Given the description of an element on the screen output the (x, y) to click on. 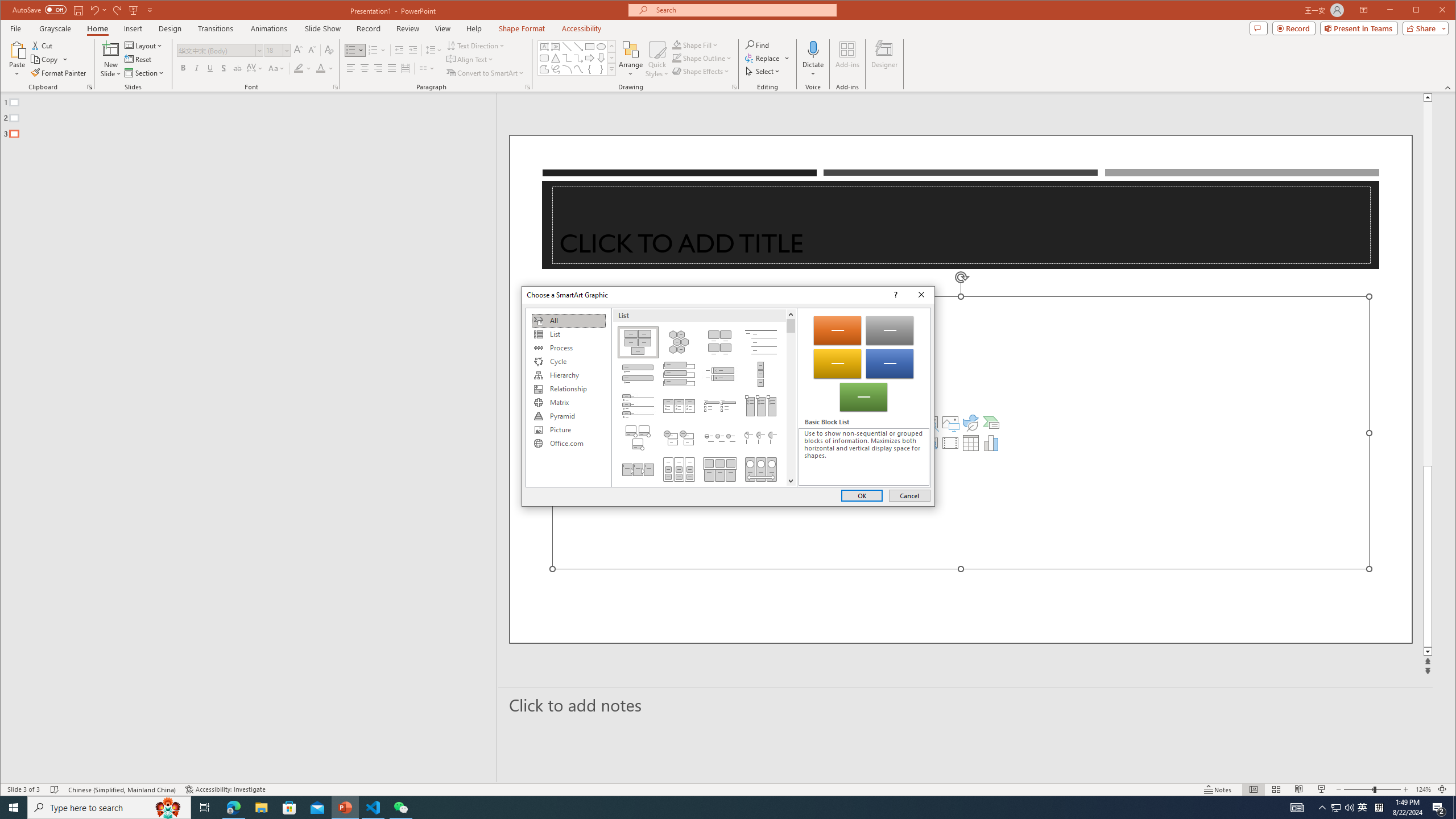
Notes  (1217, 789)
Context help (894, 294)
Vertical Box List (678, 373)
Spell Check No Errors (55, 789)
Lined List (761, 342)
Shape Effects (702, 70)
Find... (758, 44)
Columns (426, 68)
AutomationID: 4105 (1297, 807)
Right Brace (601, 69)
Curve (577, 69)
Microsoft Store (289, 807)
Bending Picture Accent List (637, 437)
